Given the description of an element on the screen output the (x, y) to click on. 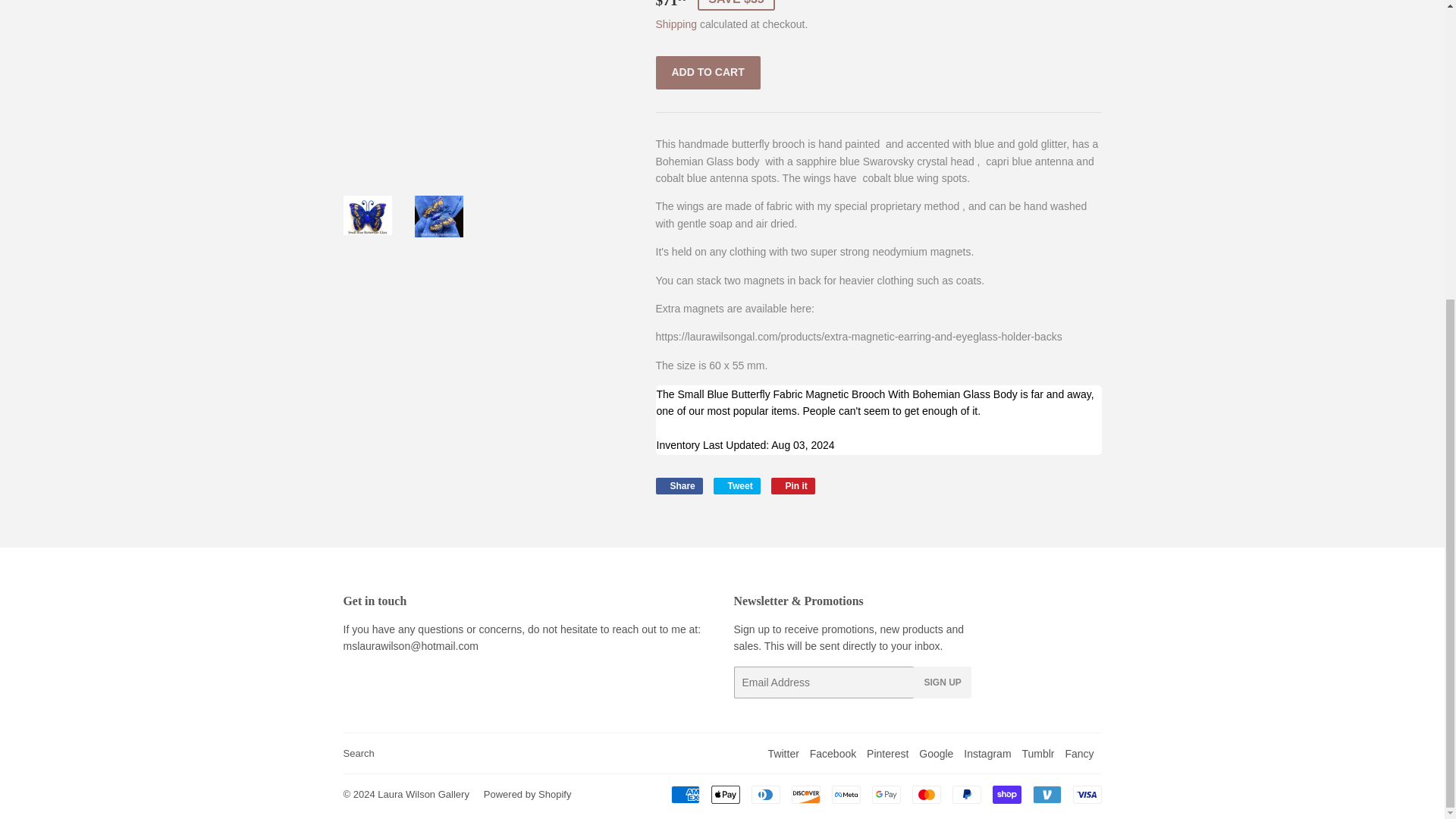
Laura Wilson Gallery  on Fancy (1078, 753)
Diners Club (764, 794)
Meta Pay (845, 794)
Laura Wilson Gallery  on Pinterest (887, 753)
Mastercard (925, 794)
Pin on Pinterest (793, 485)
Laura Wilson Gallery  on Facebook (832, 753)
Laura Wilson Gallery  on Tumblr (1038, 753)
Discover (806, 794)
Laura Wilson Gallery  on Twitter (783, 753)
Laura Wilson Gallery  on Google (935, 753)
Visa (1085, 794)
Shop Pay (1005, 794)
Apple Pay (725, 794)
Share on Facebook (678, 485)
